Given the description of an element on the screen output the (x, y) to click on. 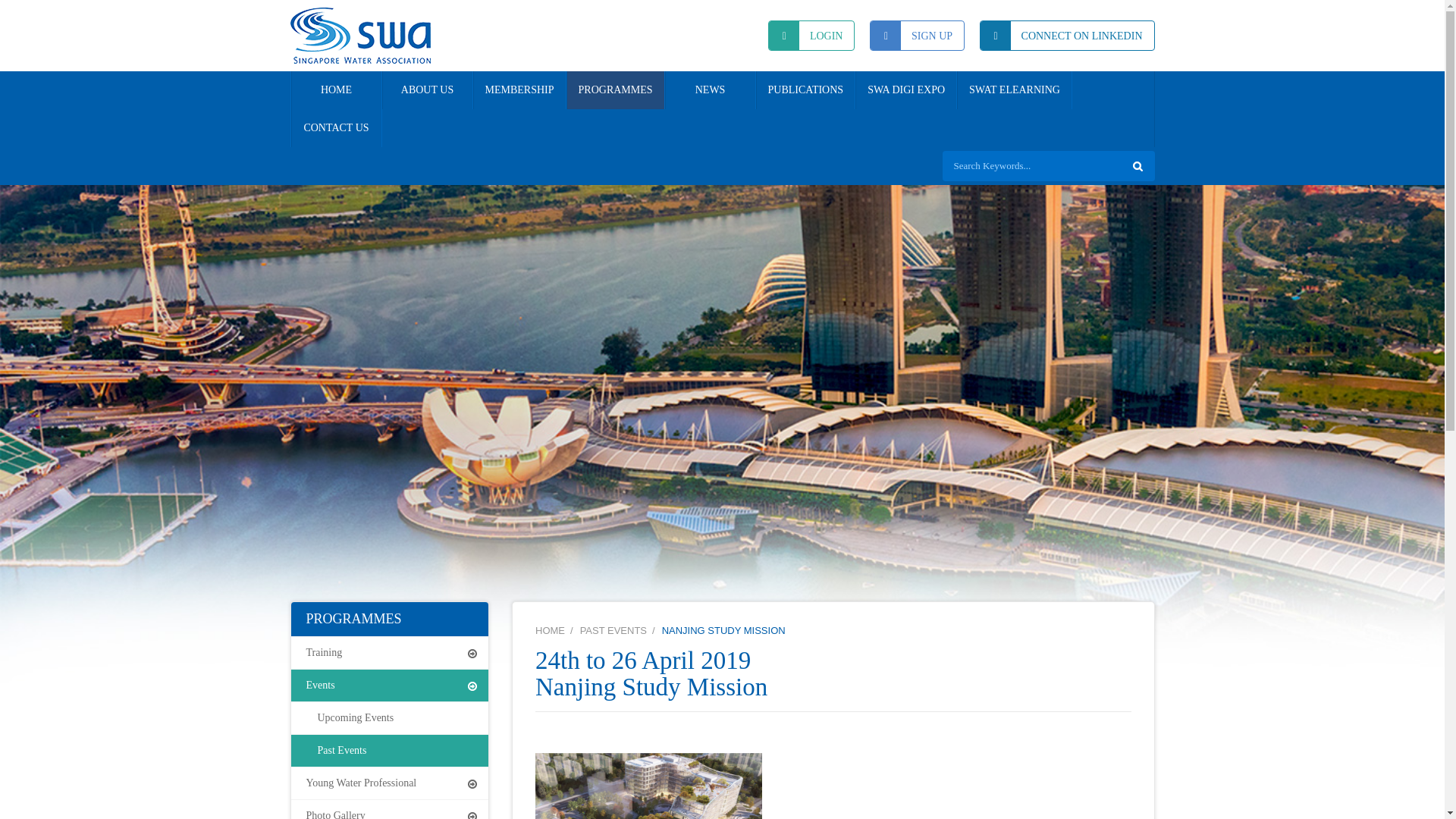
Go to the Past Events category archives. (615, 630)
CONTACT US (336, 127)
Search (1137, 165)
NEWS (710, 89)
PUBLICATIONS (805, 89)
MEMBERSHIP (519, 89)
LOGIN (811, 35)
ABOUT US (427, 89)
SIGN UP (916, 35)
SWAT ELEARNING (1013, 89)
